Given the description of an element on the screen output the (x, y) to click on. 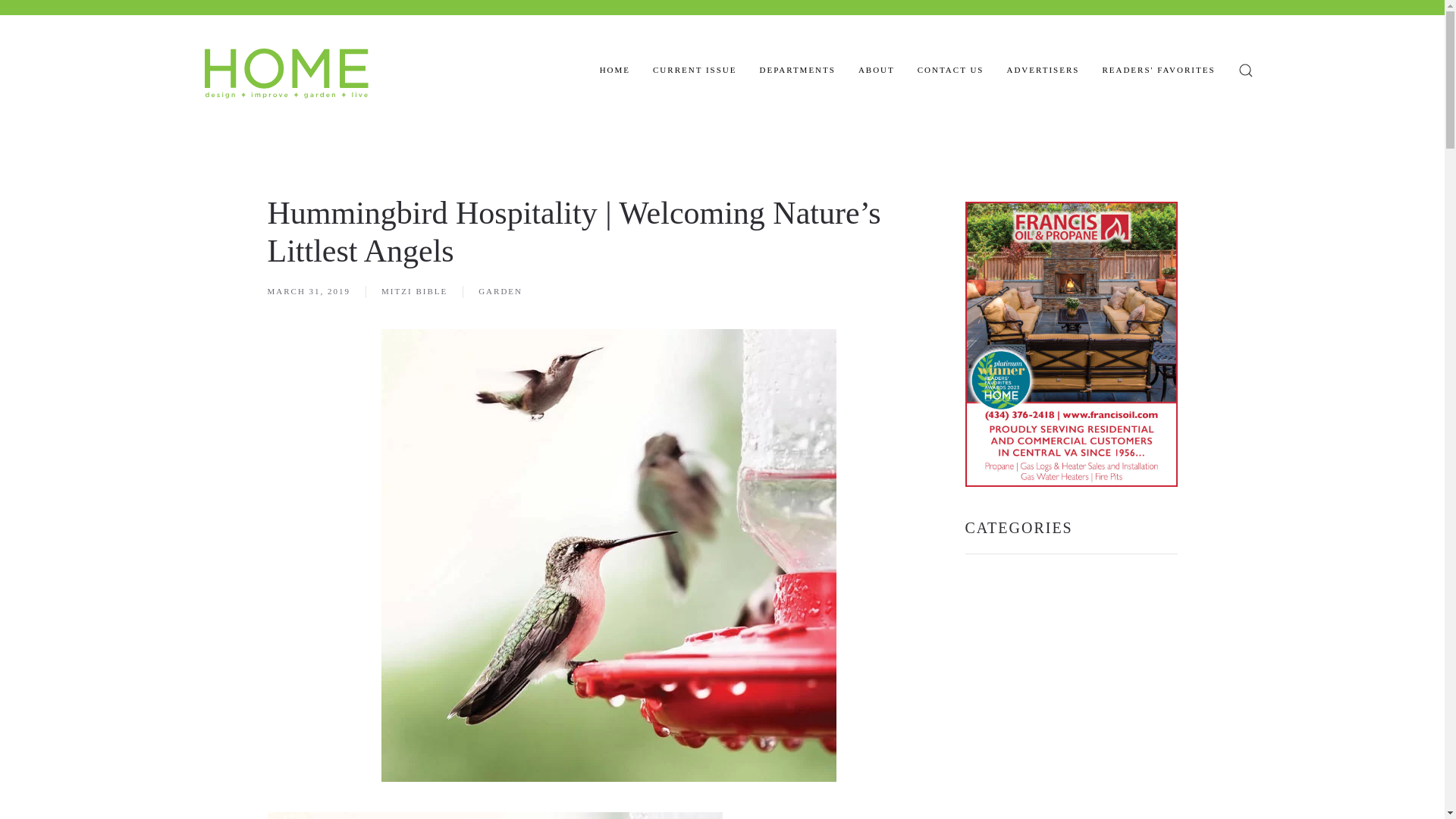
ADVERTISERS (1042, 70)
CONTACT US (950, 70)
READERS' FAVORITES (1158, 70)
DEPARTMENTS (796, 70)
CURRENT ISSUE (694, 70)
GARDEN (500, 291)
MITZI BIBLE (413, 291)
